Given the description of an element on the screen output the (x, y) to click on. 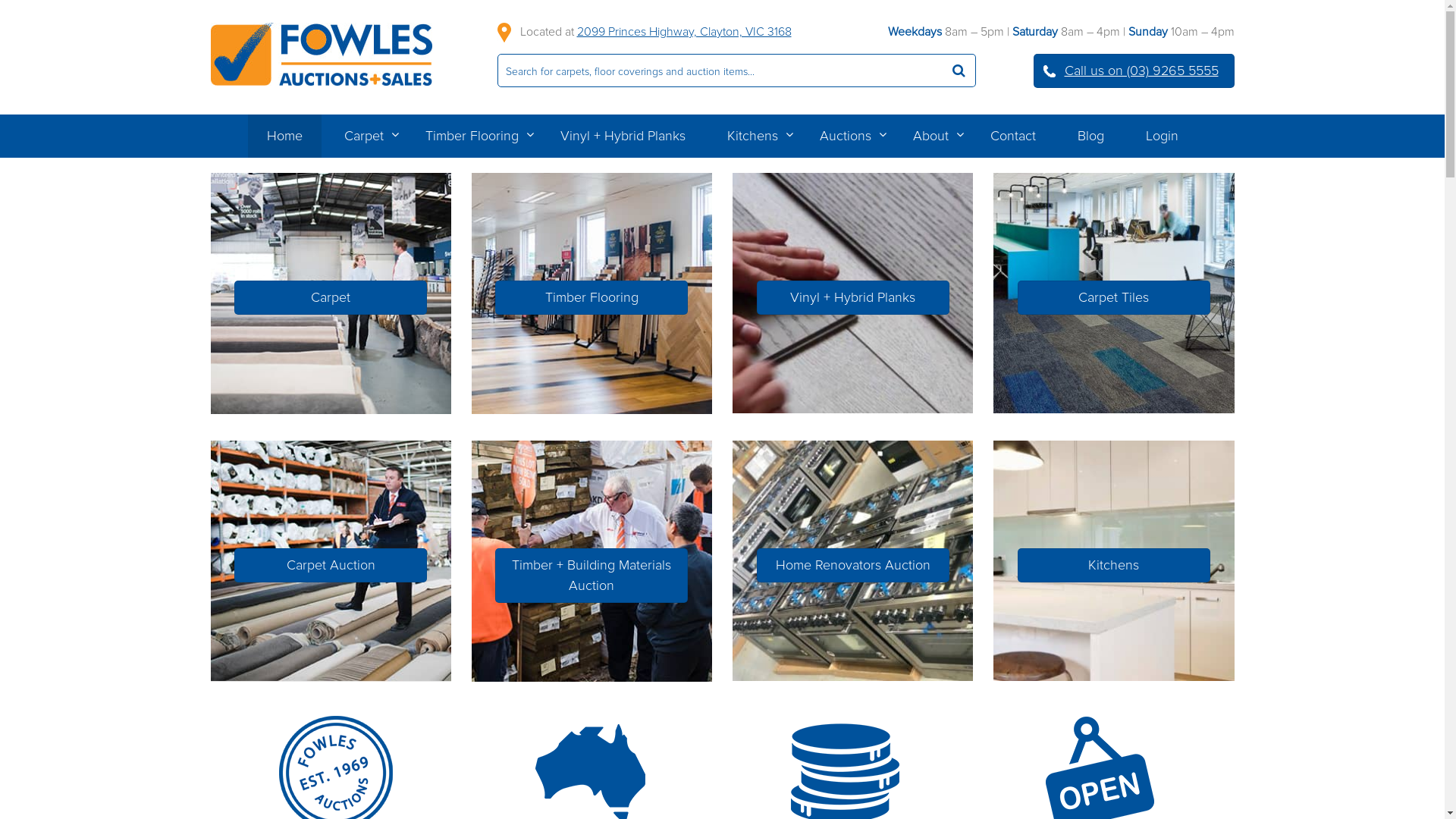
2099 Princes Highway, Clayton, VIC 3168 Element type: text (683, 31)
Blog Element type: text (1090, 135)
Kitchens Element type: text (752, 135)
Home Element type: text (283, 135)
Timber Flooring Element type: text (591, 297)
Carpet Element type: text (330, 297)
Call us on (03) 9265 5555 Element type: text (1132, 70)
Carpet Element type: text (362, 135)
Auctions Element type: text (845, 135)
Carpet Tiles Element type: text (1113, 297)
Vinyl + Hybrid Planks Element type: text (852, 297)
Contact Element type: text (1012, 135)
Timber + Building Materials Auction Element type: text (591, 575)
Timber Flooring Element type: text (471, 135)
About Element type: text (929, 135)
Home Renovators Auction Element type: text (852, 565)
Login Element type: text (1161, 135)
Vinyl + Hybrid Planks Element type: text (622, 135)
Kitchens Element type: text (1113, 565)
Carpet Auction Element type: text (330, 565)
